Given the description of an element on the screen output the (x, y) to click on. 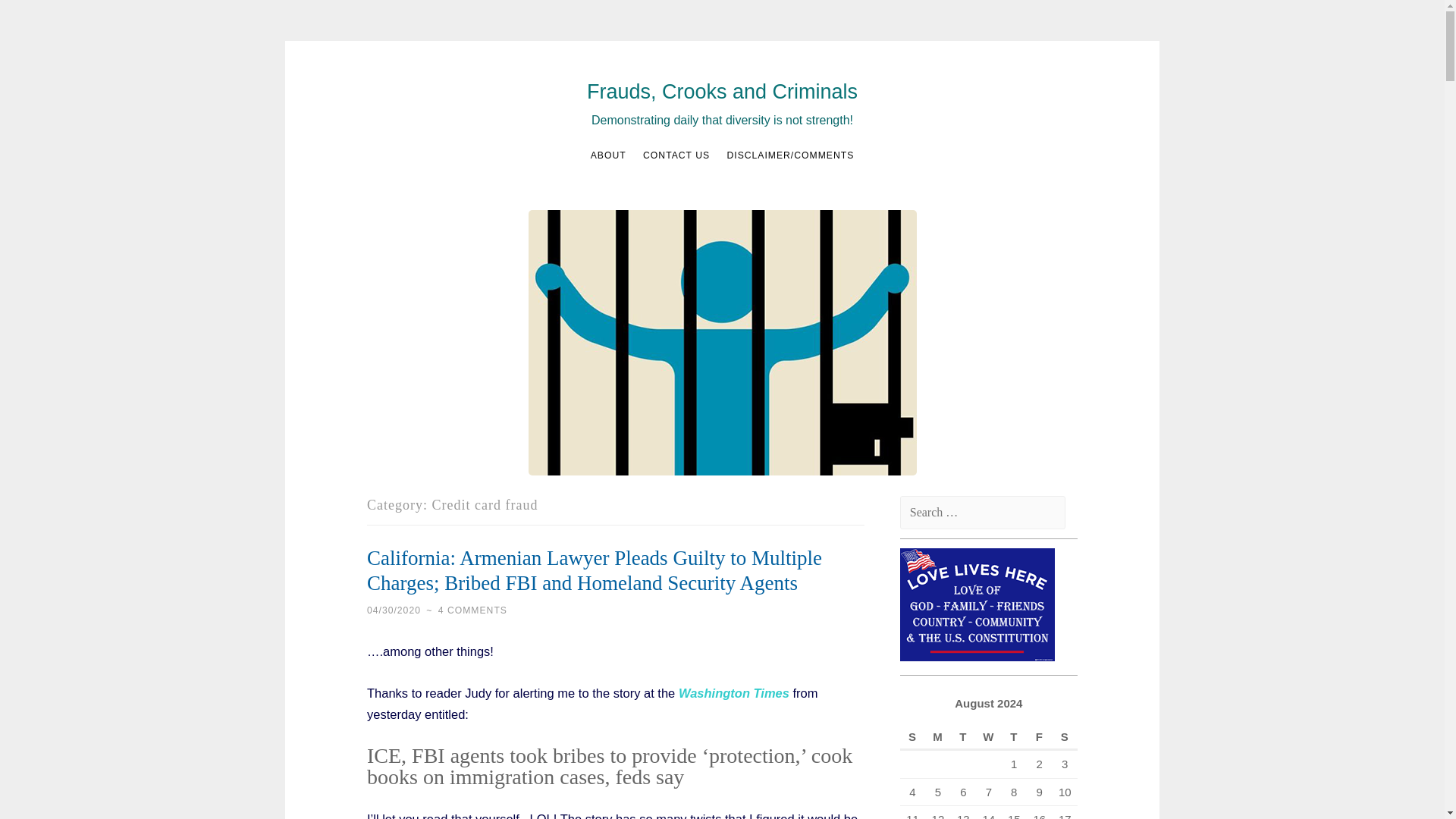
Saturday (1064, 737)
Friday (1038, 737)
Washington Times (733, 693)
Sunday (911, 737)
4 COMMENTS (472, 610)
Wednesday (988, 737)
Monday (937, 737)
Thursday (1013, 737)
